Given the description of an element on the screen output the (x, y) to click on. 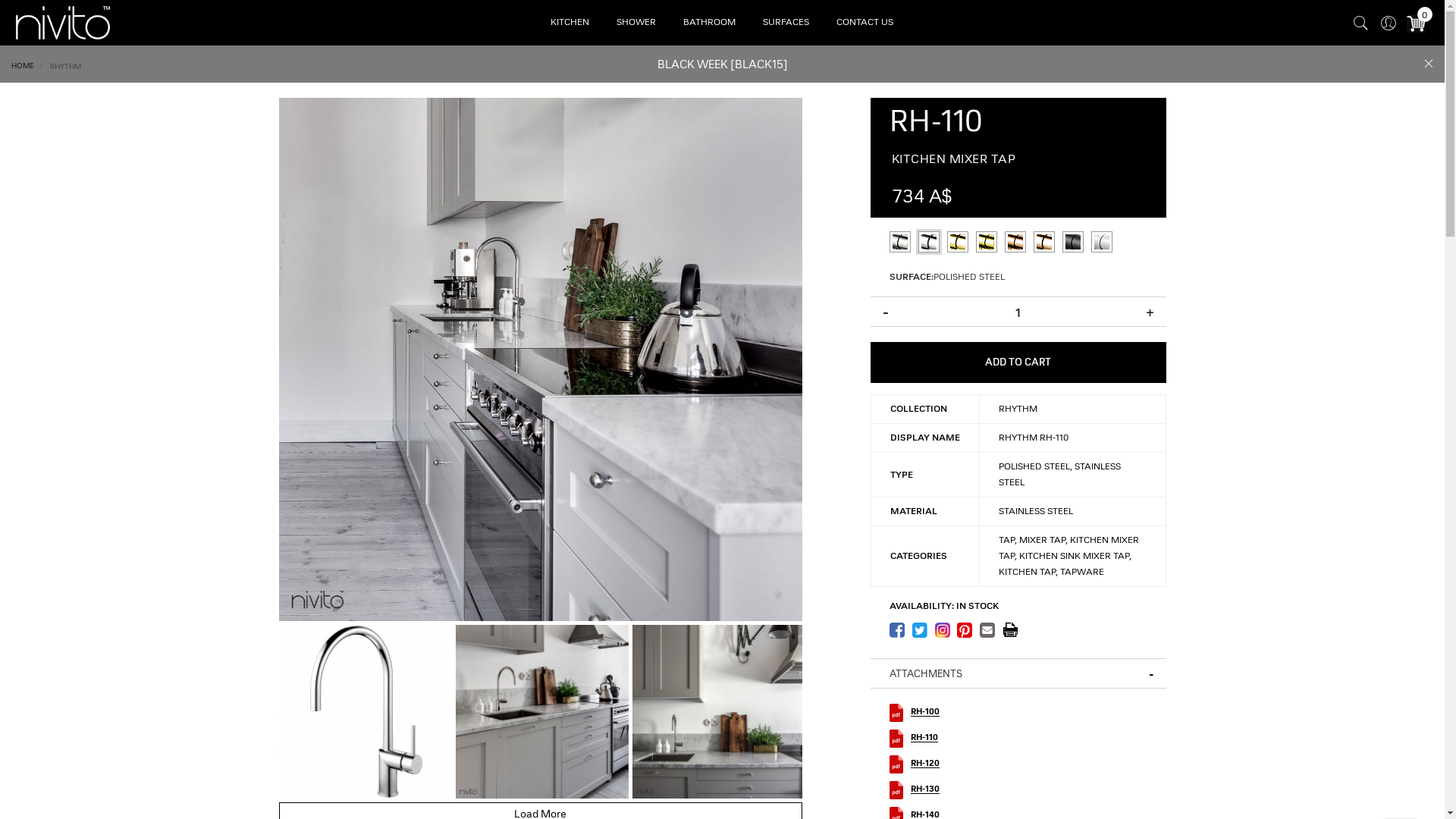
KITCHEN TAP Element type: text (1025, 507)
Share this on Pinterest Element type: hover (968, 632)
CONTACT US Element type: text (864, 22)
RH-110 Element type: text (923, 673)
TAP Element type: text (1005, 475)
TAPWARE Element type: text (1082, 507)
ADD TO CART Element type: text (1018, 298)
Send an Email Element type: hover (990, 632)
Share this on Facebook Element type: hover (899, 632)
Nivito Element type: hover (62, 21)
RH-120 Element type: text (924, 699)
KITCHEN MIXER TAP Element type: text (1067, 483)
KITCHEN SINK MIXER TAP Element type: text (1074, 491)
RH-100 Element type: text (924, 647)
Follow us on Instagram Element type: hover (945, 632)
RH-160 Element type: text (924, 802)
- Element type: text (885, 246)
RH-130 Element type: text (924, 725)
MIXER TAP Element type: text (1042, 475)
BATHROOM Element type: text (709, 22)
Close Element type: hover (1428, 64)
RH-140 Element type: text (924, 751)
Download PDF Element type: hover (1009, 629)
Share this on Twitter Element type: hover (922, 632)
+ Element type: text (1149, 245)
Load More Element type: text (540, 799)
SHOWER Element type: text (635, 22)
Qty Element type: hover (1017, 312)
RH-150 Element type: text (924, 776)
SURFACES Element type: text (785, 22)
KITCHEN Element type: text (569, 22)
